Given the description of an element on the screen output the (x, y) to click on. 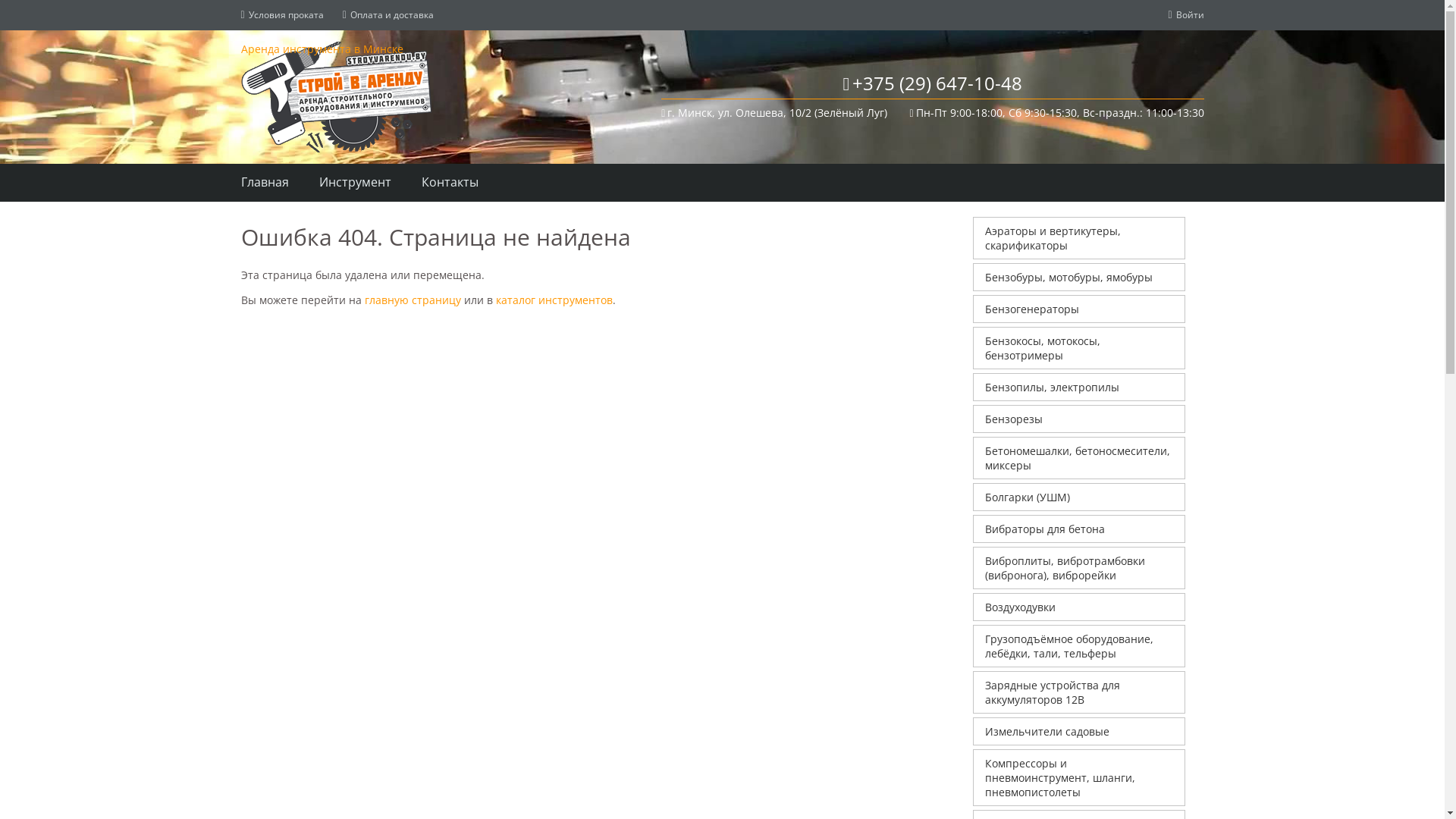
+375 (29) 647-10-48 Element type: text (932, 82)
